Given the description of an element on the screen output the (x, y) to click on. 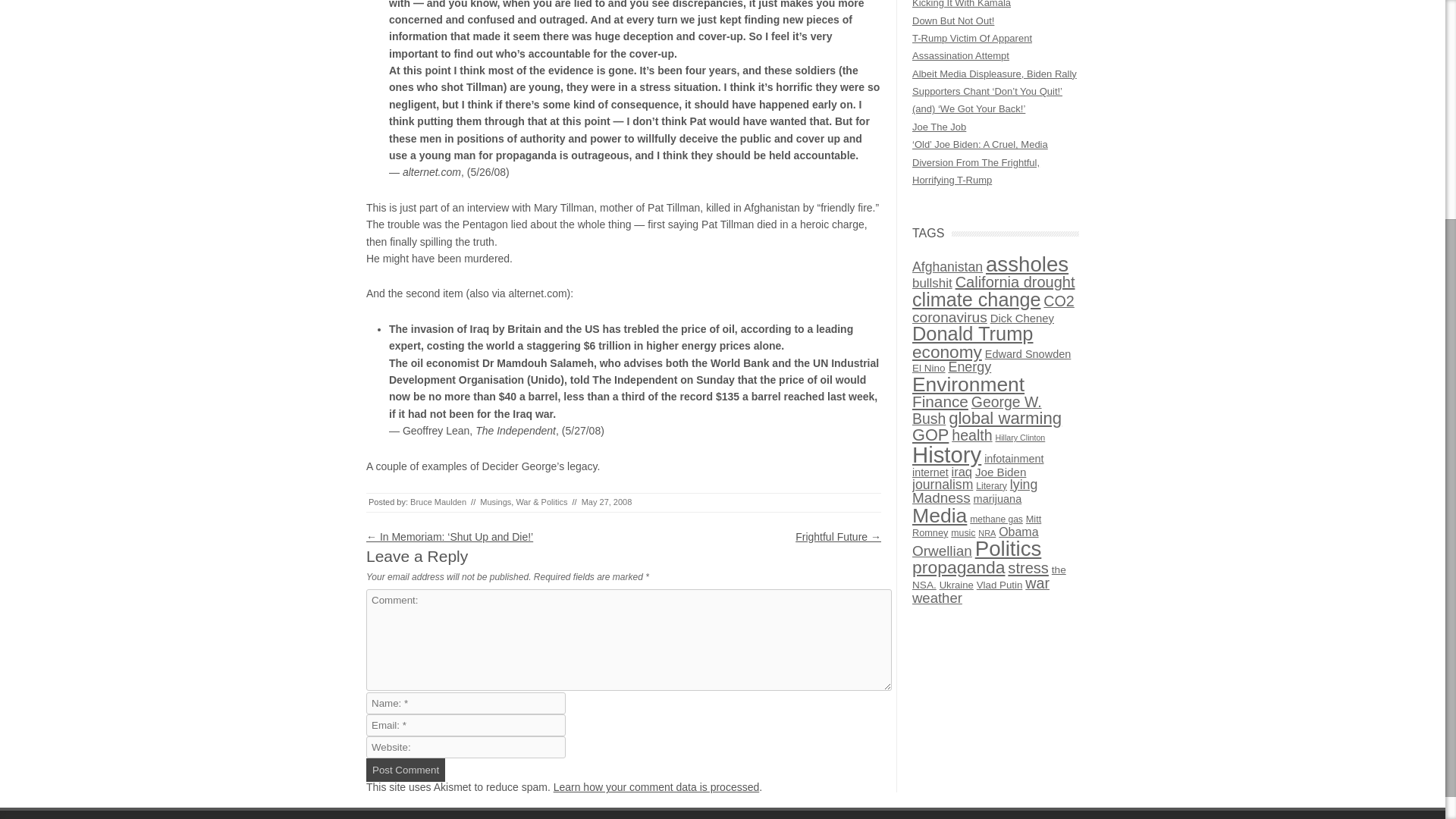
assholes (1026, 264)
Kicking It With Kamala (961, 4)
T-Rump Victim Of Apparent Assassination Attempt (972, 46)
Post Comment (405, 770)
Post Comment (405, 770)
Learn how your comment data is processed (656, 787)
CO2 (1058, 300)
Musings (495, 501)
Bruce Maulden (437, 501)
Joe The Job (939, 126)
Down But Not Out! (953, 20)
bullshit (932, 283)
Afghanistan (947, 266)
May 27, 2008 (605, 501)
coronavirus (949, 317)
